Given the description of an element on the screen output the (x, y) to click on. 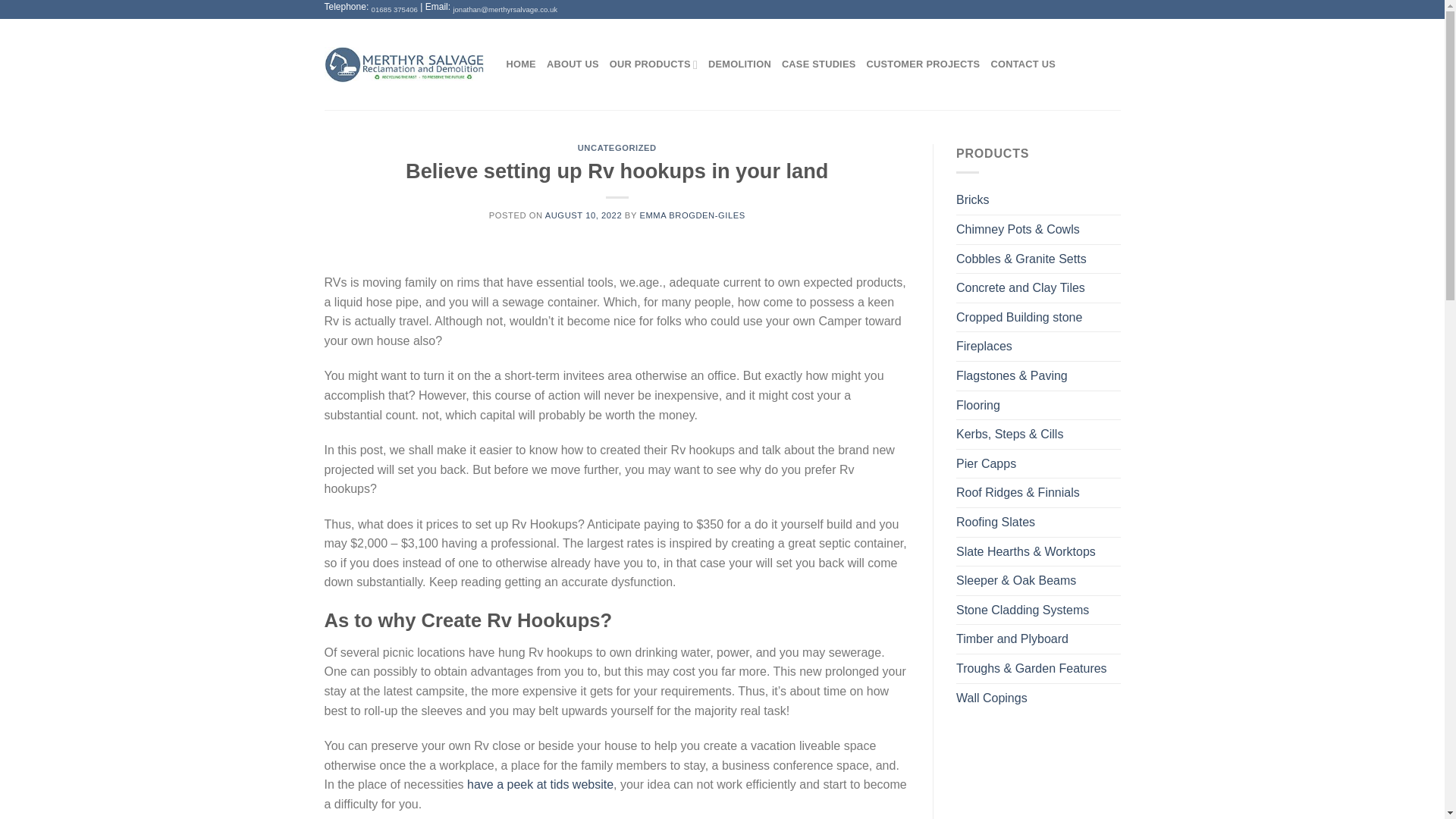
CUSTOMER PROJECTS (922, 64)
Bricks (1038, 199)
HOME (520, 64)
DEMOLITION (739, 64)
CONTACT US (1022, 64)
UNCATEGORIZED (617, 147)
CASE STUDIES (818, 64)
AUGUST 10, 2022 (582, 215)
OUR PRODUCTS (653, 64)
Cropped Building stone (1038, 317)
